Given the description of an element on the screen output the (x, y) to click on. 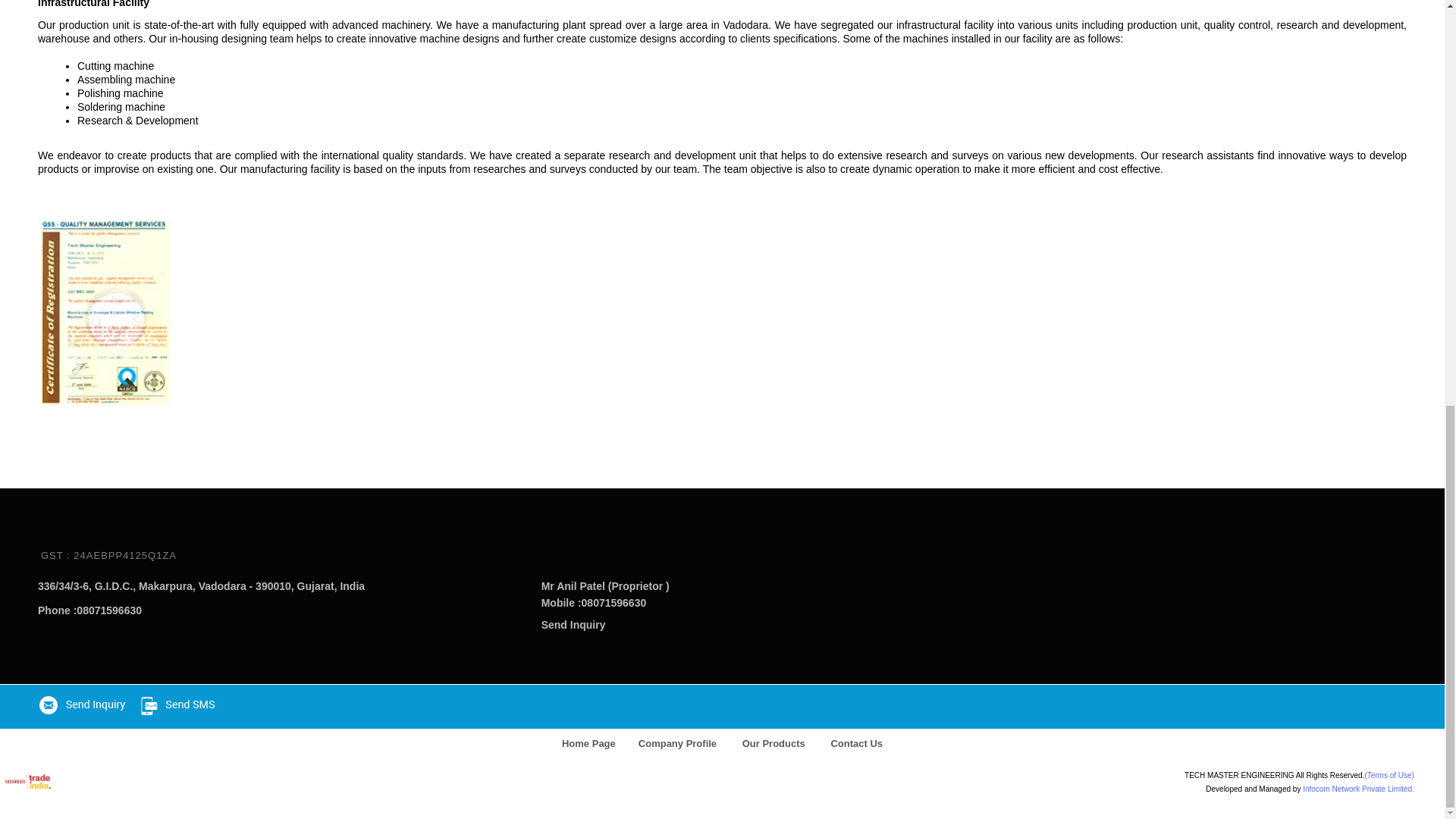
Contact Us (855, 743)
Company Profile (677, 743)
Home Page (588, 743)
Our Products (773, 743)
Infocom Network Private Limited. (1358, 788)
Send Inquiry (573, 624)
